Given the description of an element on the screen output the (x, y) to click on. 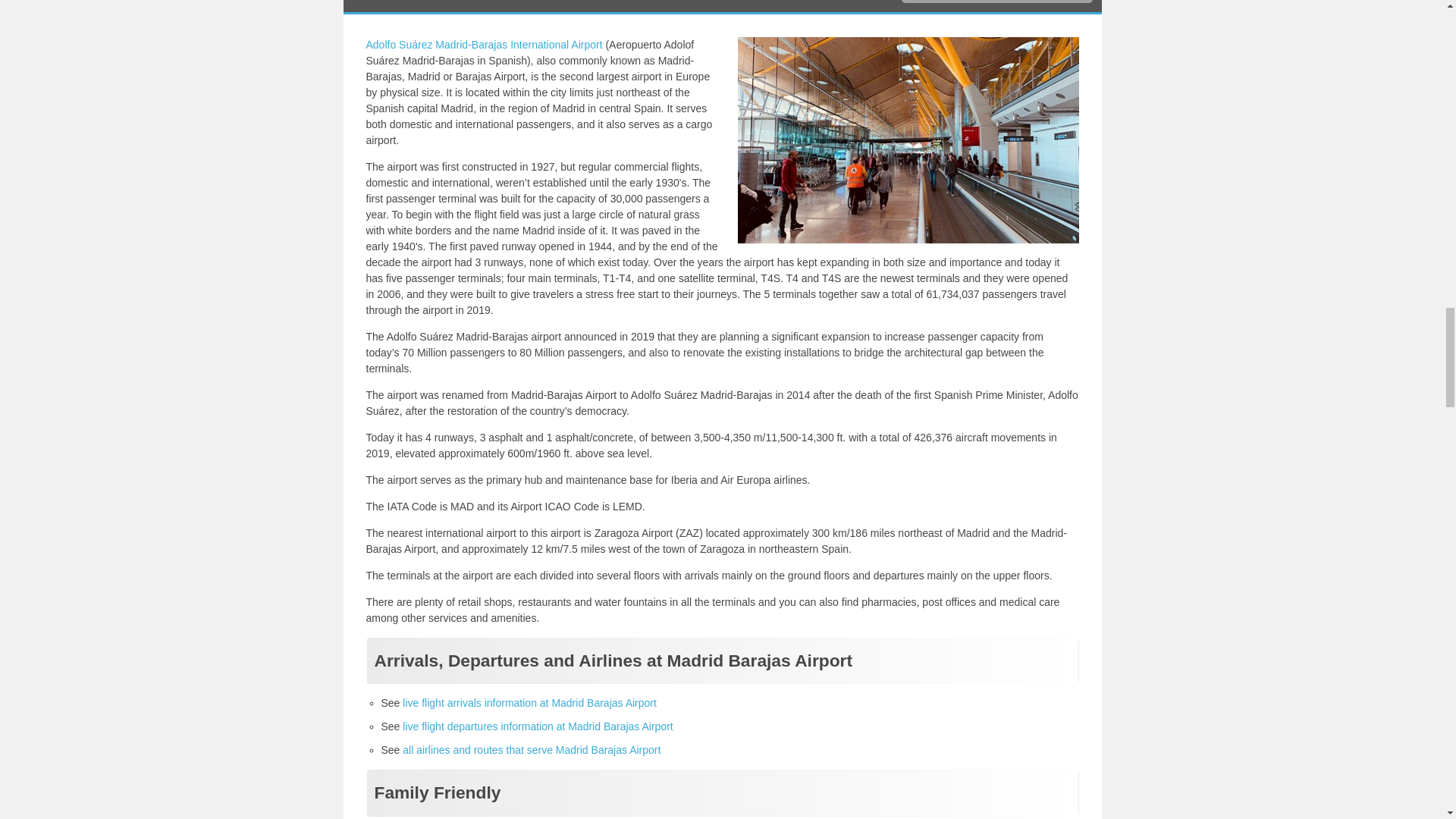
Arrivals (529, 702)
Airlines (532, 749)
MadridBarajasAirport.net (483, 44)
Departures (537, 726)
